Given the description of an element on the screen output the (x, y) to click on. 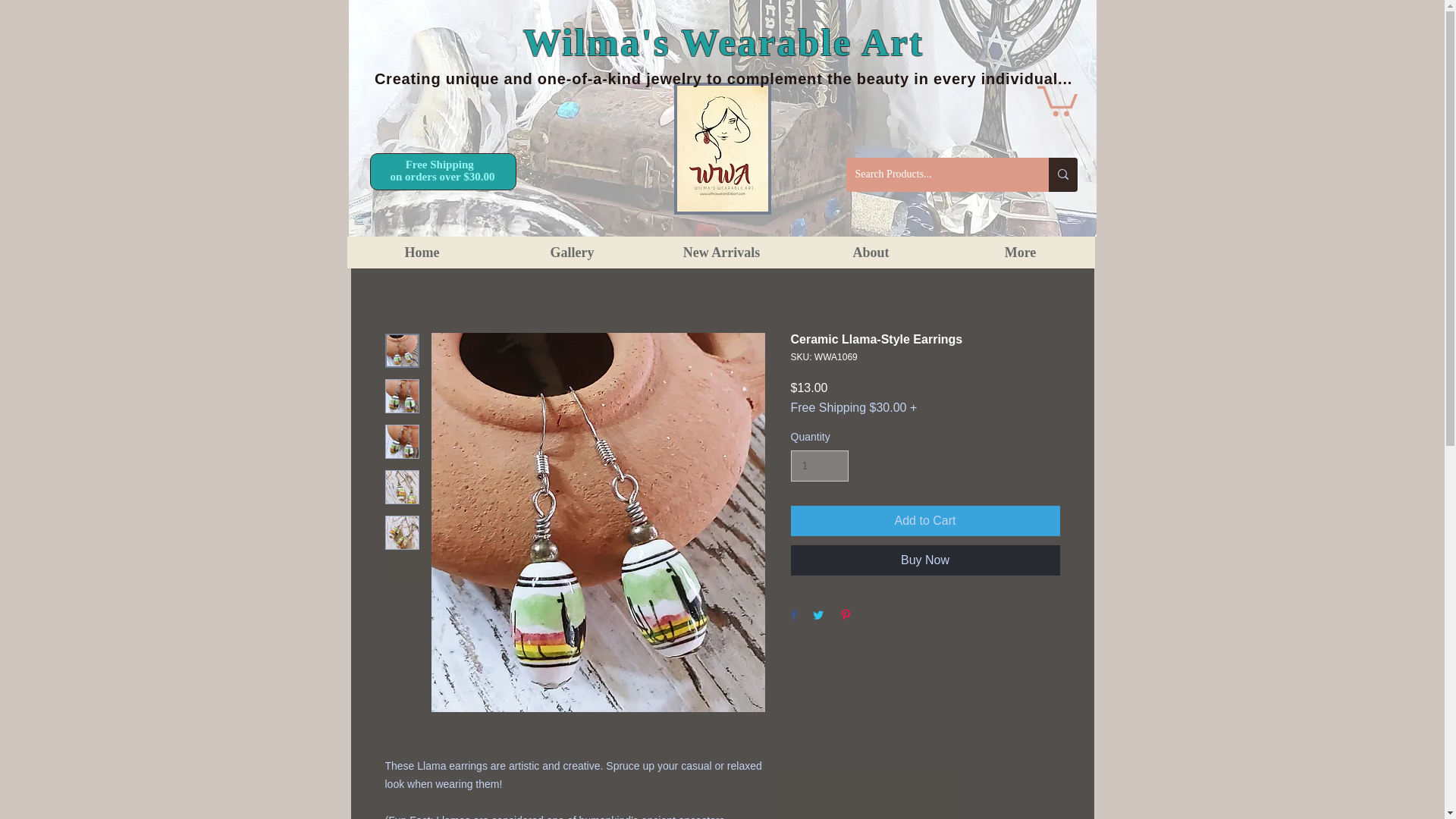
About (870, 252)
1 (818, 465)
Wilma's Wearable Art (723, 42)
Add to Cart (924, 521)
Home (422, 252)
Buy Now (924, 560)
New Arrivals (720, 252)
Creating unique an (448, 78)
Gallery (571, 252)
